Given the description of an element on the screen output the (x, y) to click on. 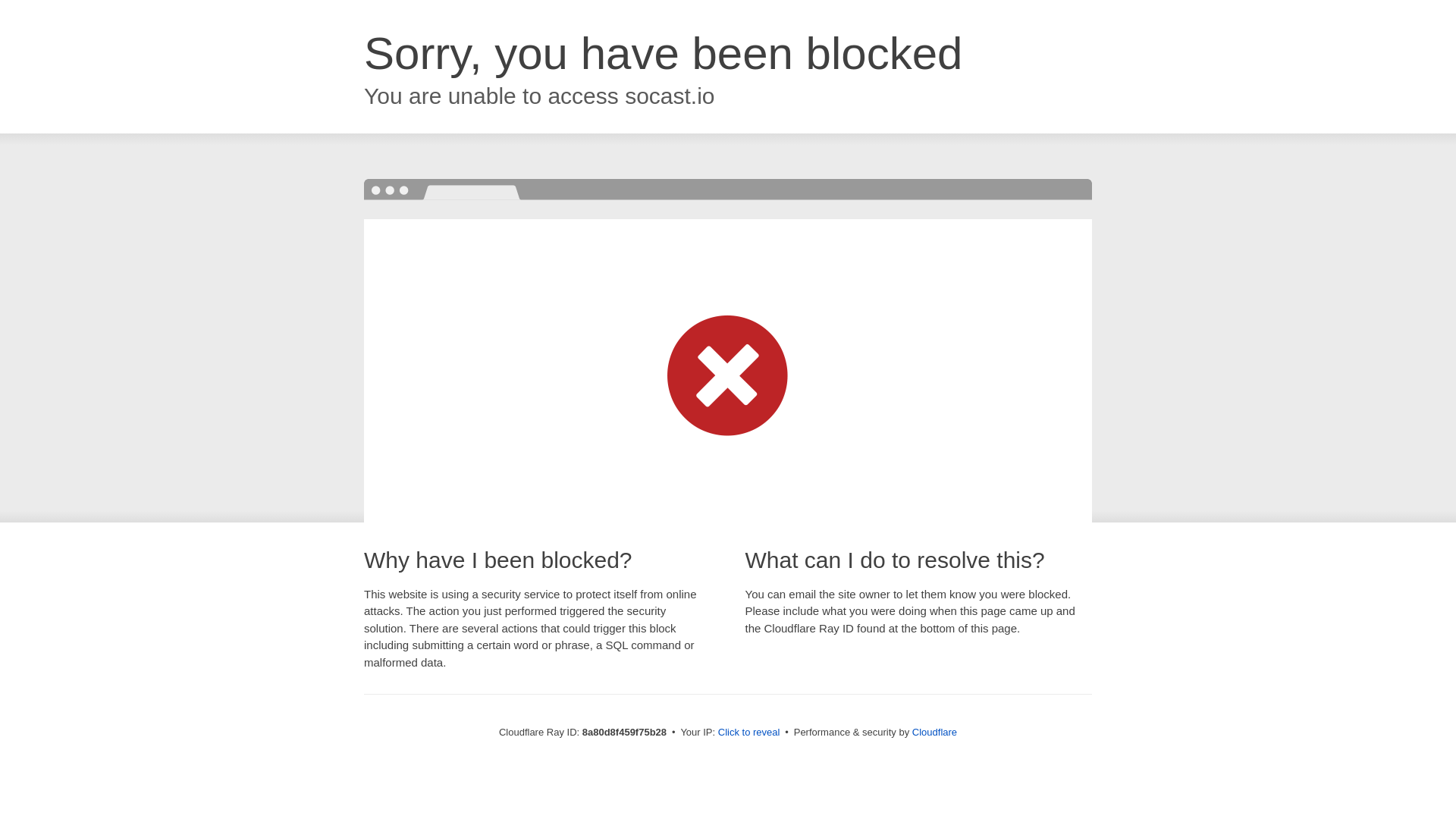
Cloudflare (934, 731)
Click to reveal (748, 732)
